Given the description of an element on the screen output the (x, y) to click on. 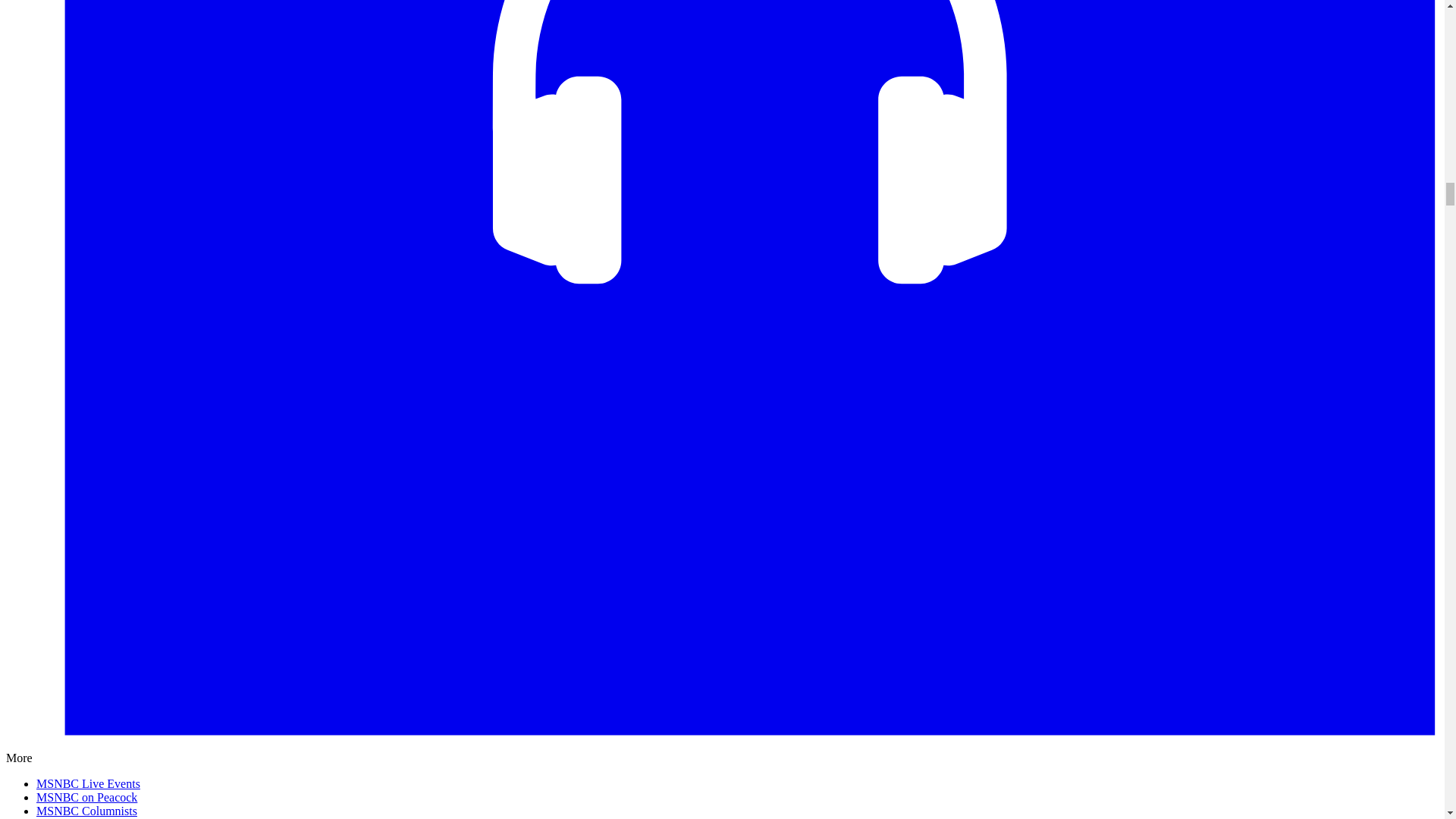
MSNBC on Peacock (86, 797)
MSNBC Live Events (87, 783)
